Given the description of an element on the screen output the (x, y) to click on. 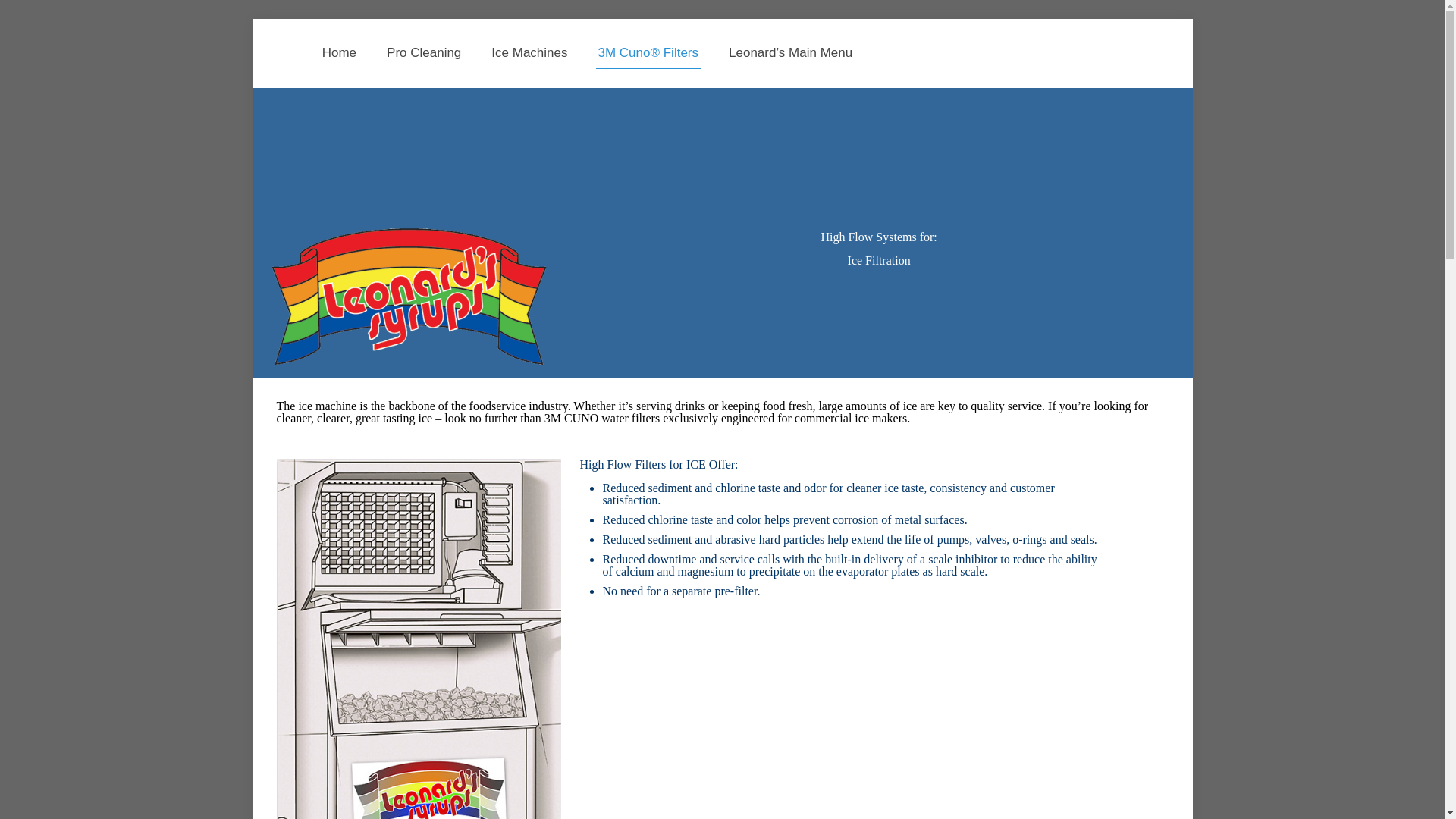
Ice Machines (529, 52)
Pro Cleaning (423, 52)
Home (339, 52)
